Given the description of an element on the screen output the (x, y) to click on. 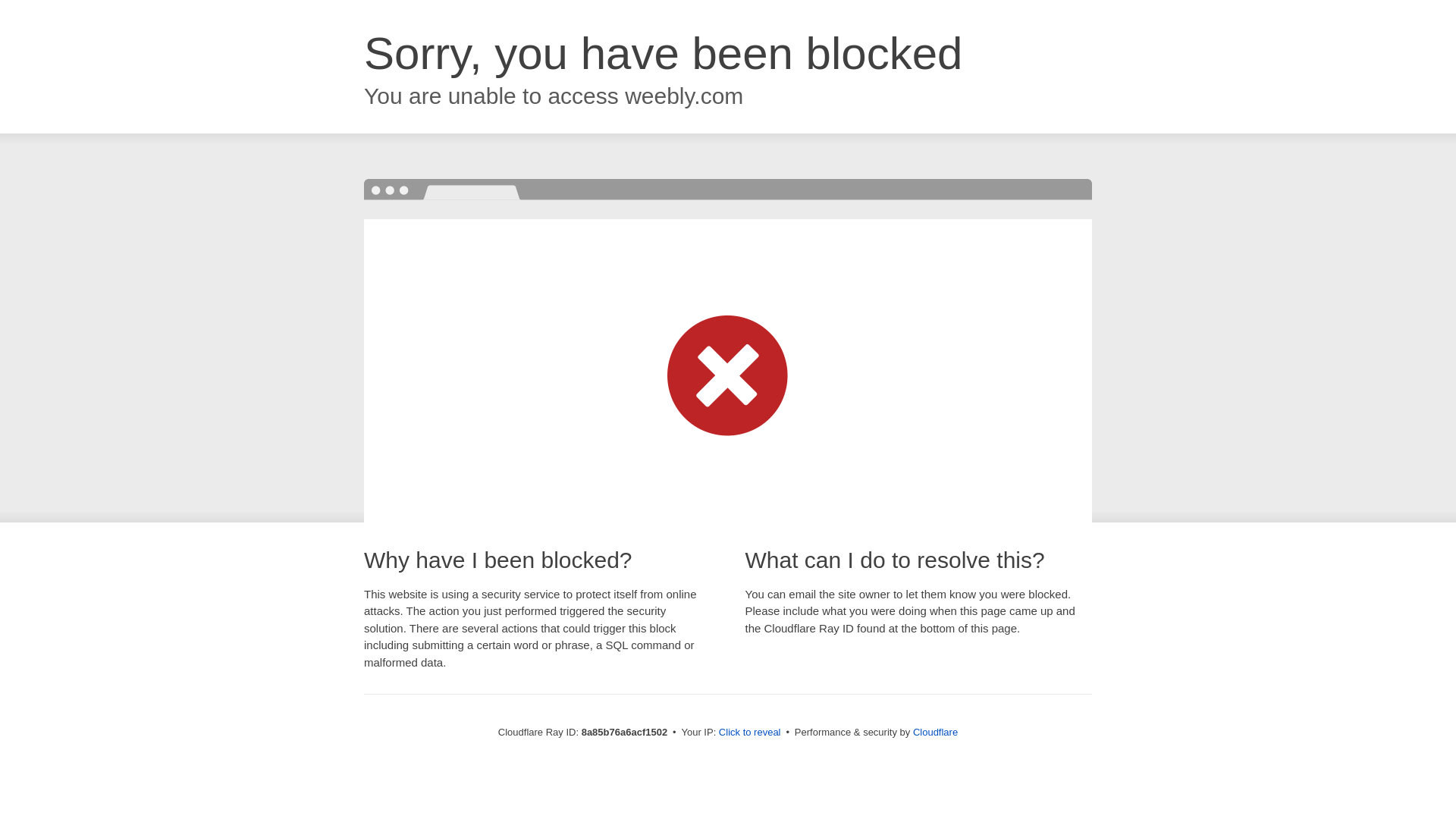
Click to reveal (749, 732)
Cloudflare (935, 731)
